Given the description of an element on the screen output the (x, y) to click on. 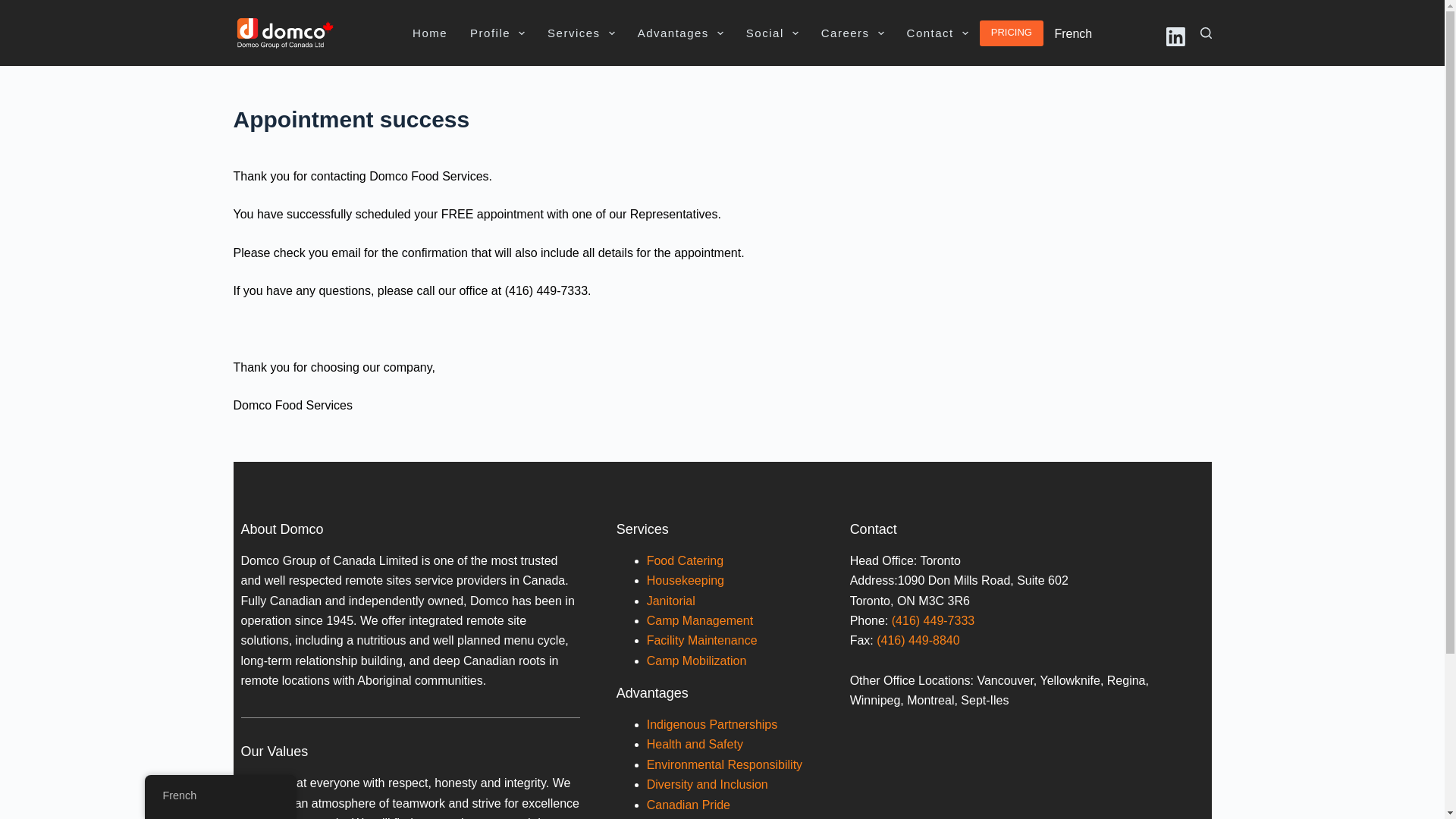
French (1072, 34)
1090 Don Mills Road Suite 602 Toronto, ON M3C 3R6 (1023, 772)
Skip to content (15, 7)
Appointment success (721, 119)
